Given the description of an element on the screen output the (x, y) to click on. 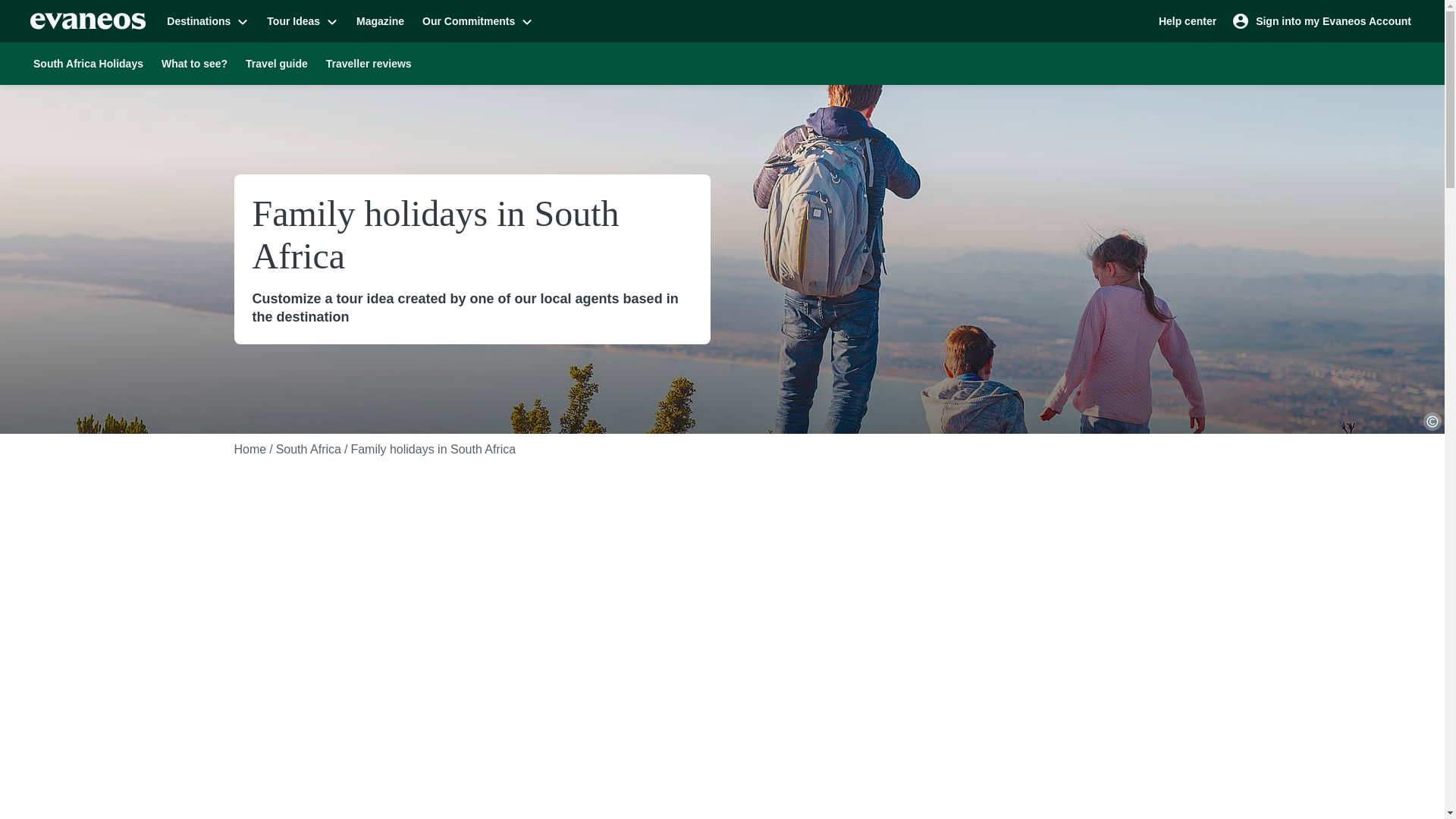
Sign into my Evaneos Account (1323, 20)
Evaneos (87, 21)
Evaneos (87, 21)
South Africa Holidays (88, 63)
Traveller reviews (368, 63)
Tour Ideas (302, 20)
Home (249, 449)
Help center (1187, 20)
South Africa (308, 449)
Magazine (380, 20)
Our Commitments (477, 20)
Family holidays in South Africa (432, 449)
What to see? (193, 63)
Destinations (207, 20)
Travel guide (276, 63)
